Given the description of an element on the screen output the (x, y) to click on. 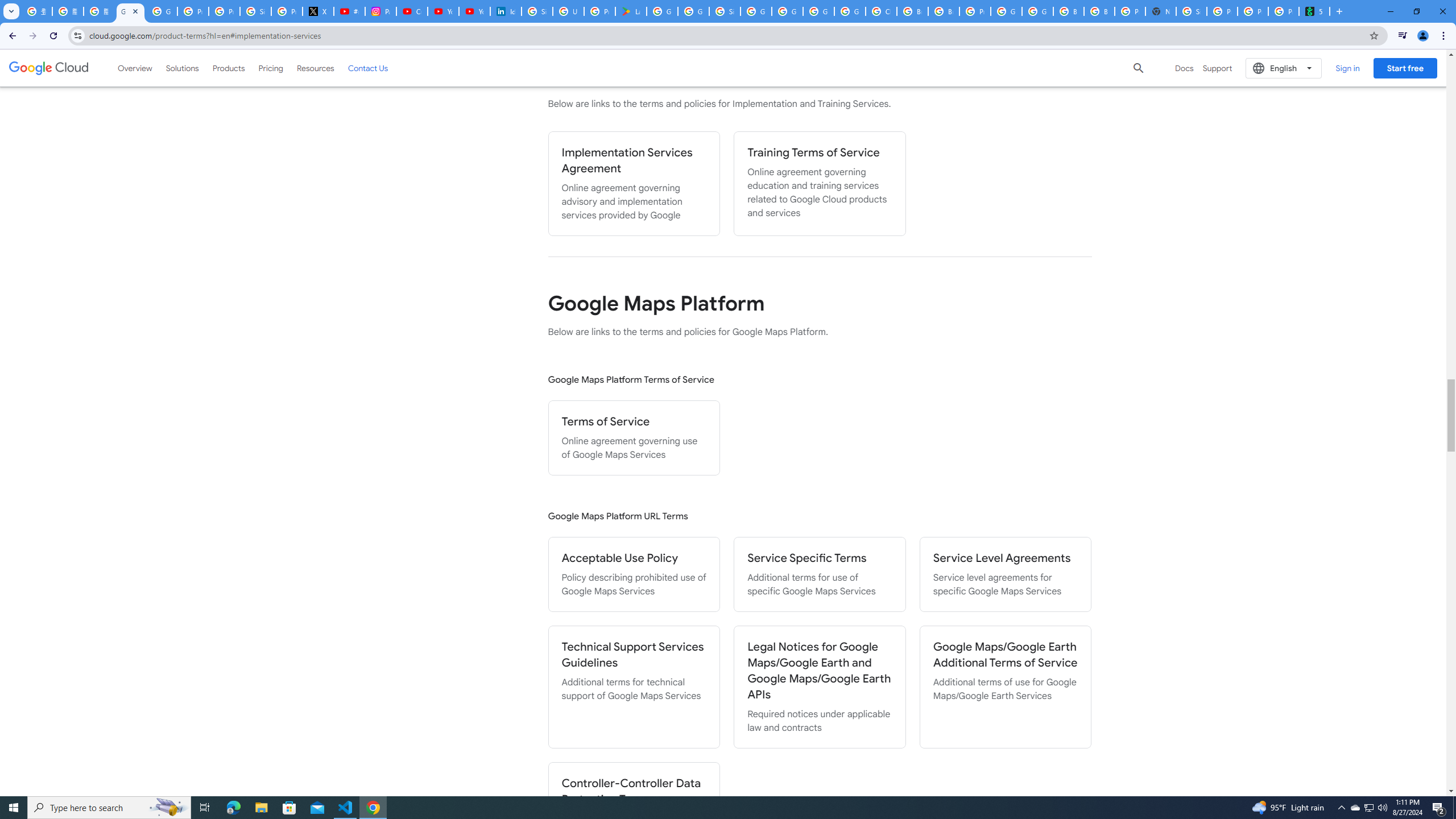
Contact Us (368, 67)
#nbabasketballhighlights - YouTube (349, 11)
Sign in - Google Accounts (1190, 11)
